Given the description of an element on the screen output the (x, y) to click on. 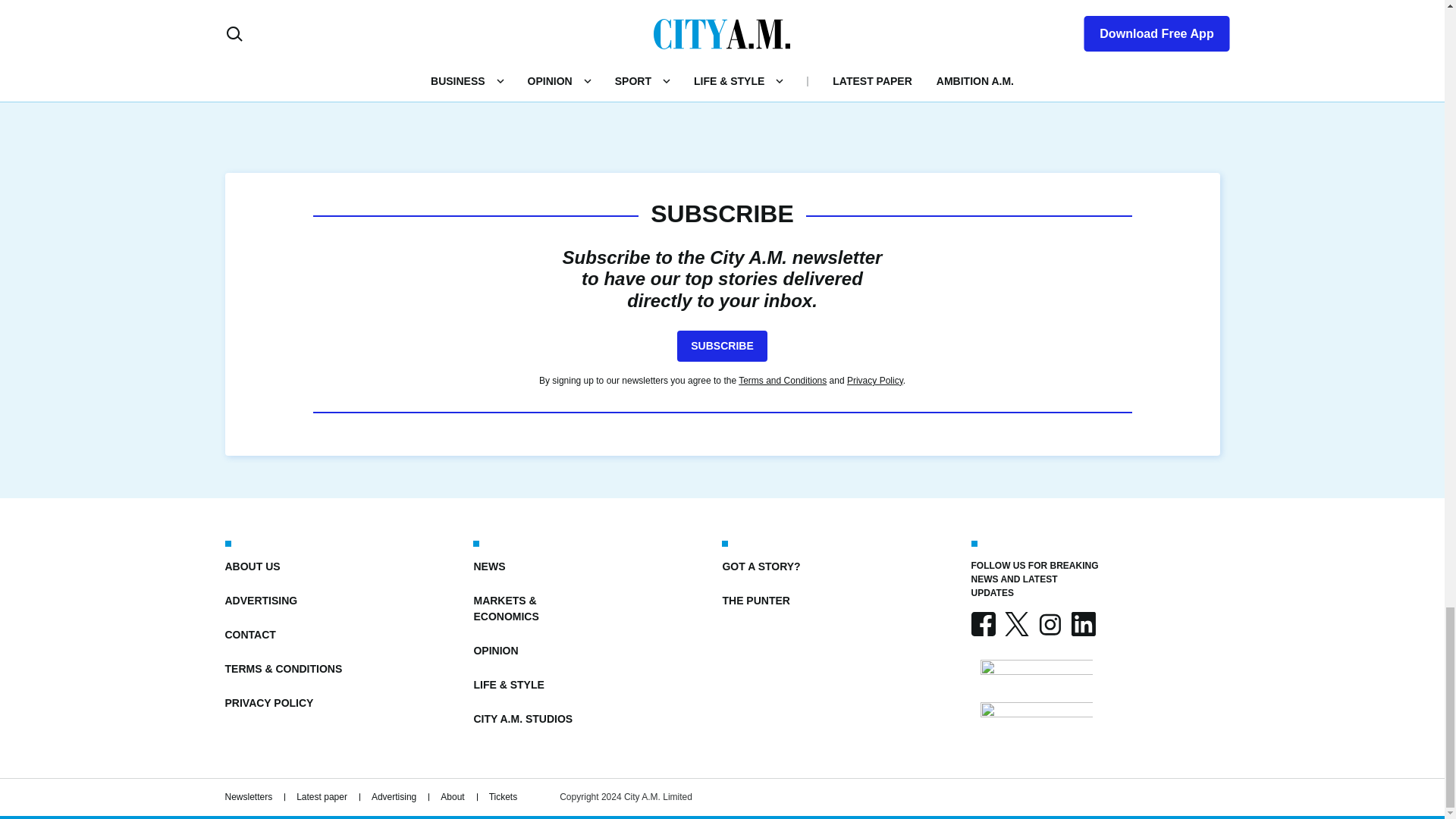
FACEBOOK (982, 623)
LINKEDIN (1082, 623)
X (1015, 623)
INSTAGRAM (1048, 623)
